Given the description of an element on the screen output the (x, y) to click on. 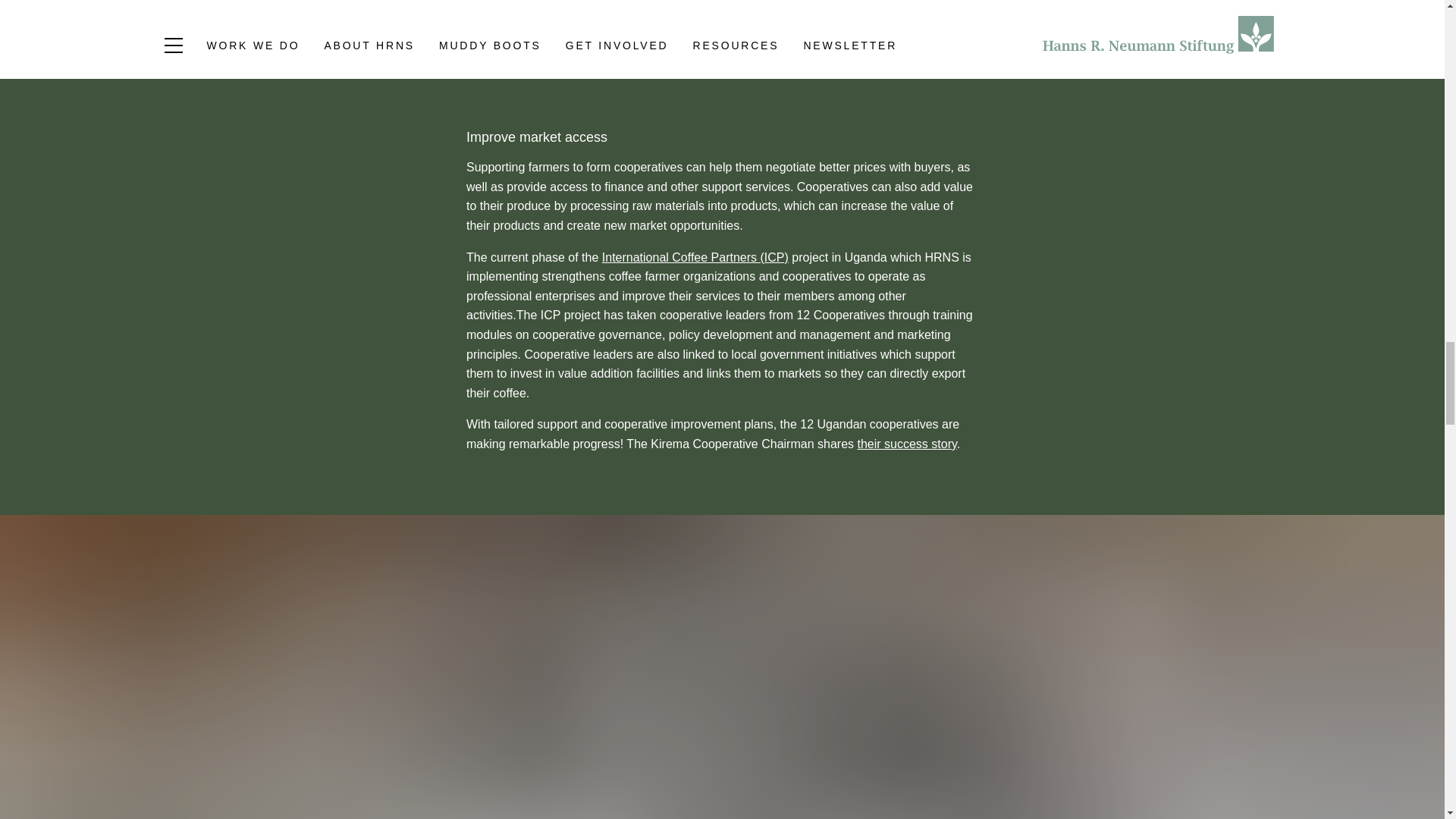
their success story (906, 443)
Kirema Cooperative success story (906, 443)
